Given the description of an element on the screen output the (x, y) to click on. 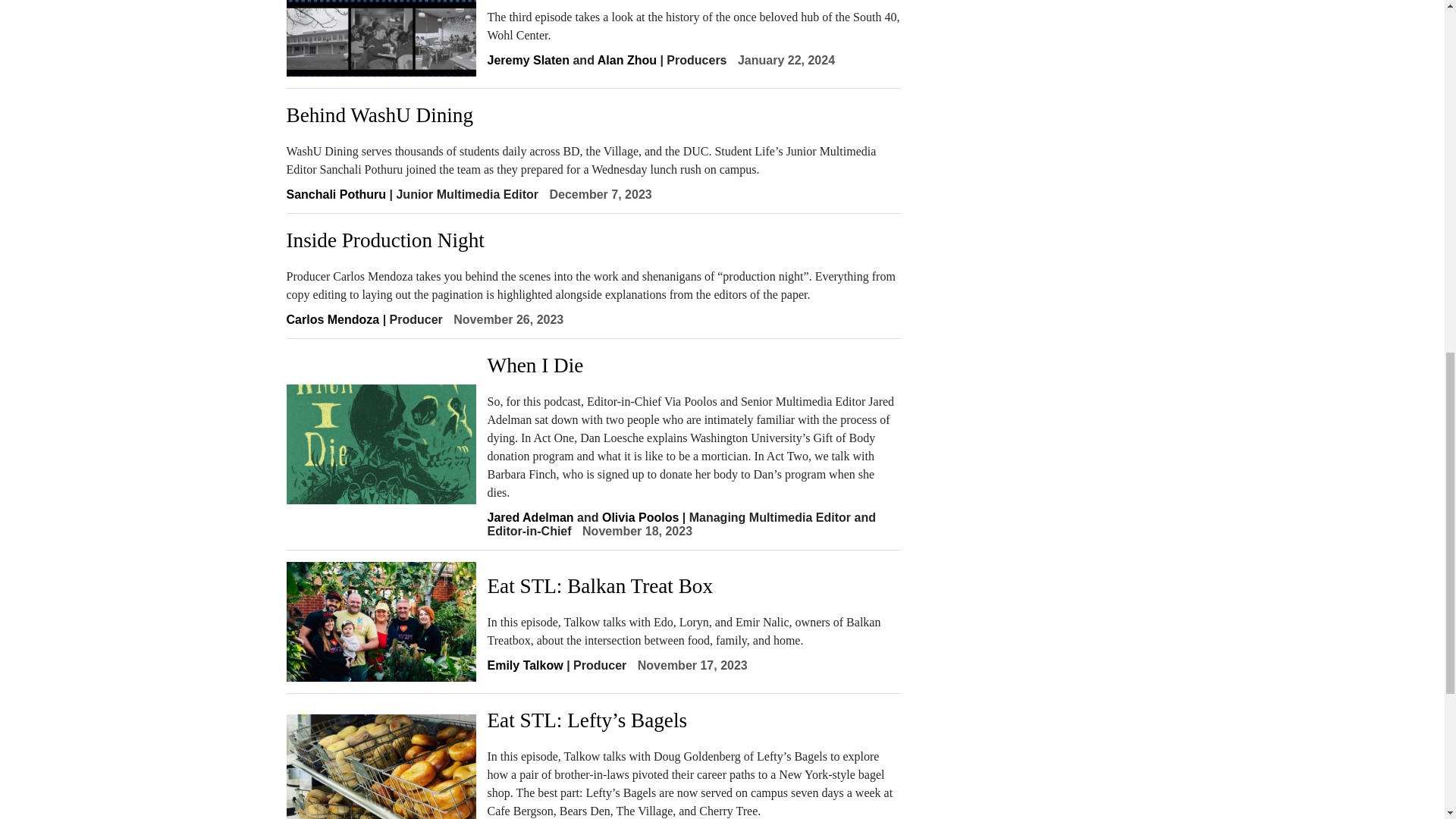
Articles by Olivia Poolos (640, 517)
Articles by Emily Talkow (524, 665)
Articles by Alan Zhou (626, 60)
Articles by Jared Adelman (529, 517)
Articles by Jeremy Slaten (527, 60)
Articles by Carlos Mendoza (333, 318)
Articles by Sanchali Pothuru (336, 194)
